Given the description of an element on the screen output the (x, y) to click on. 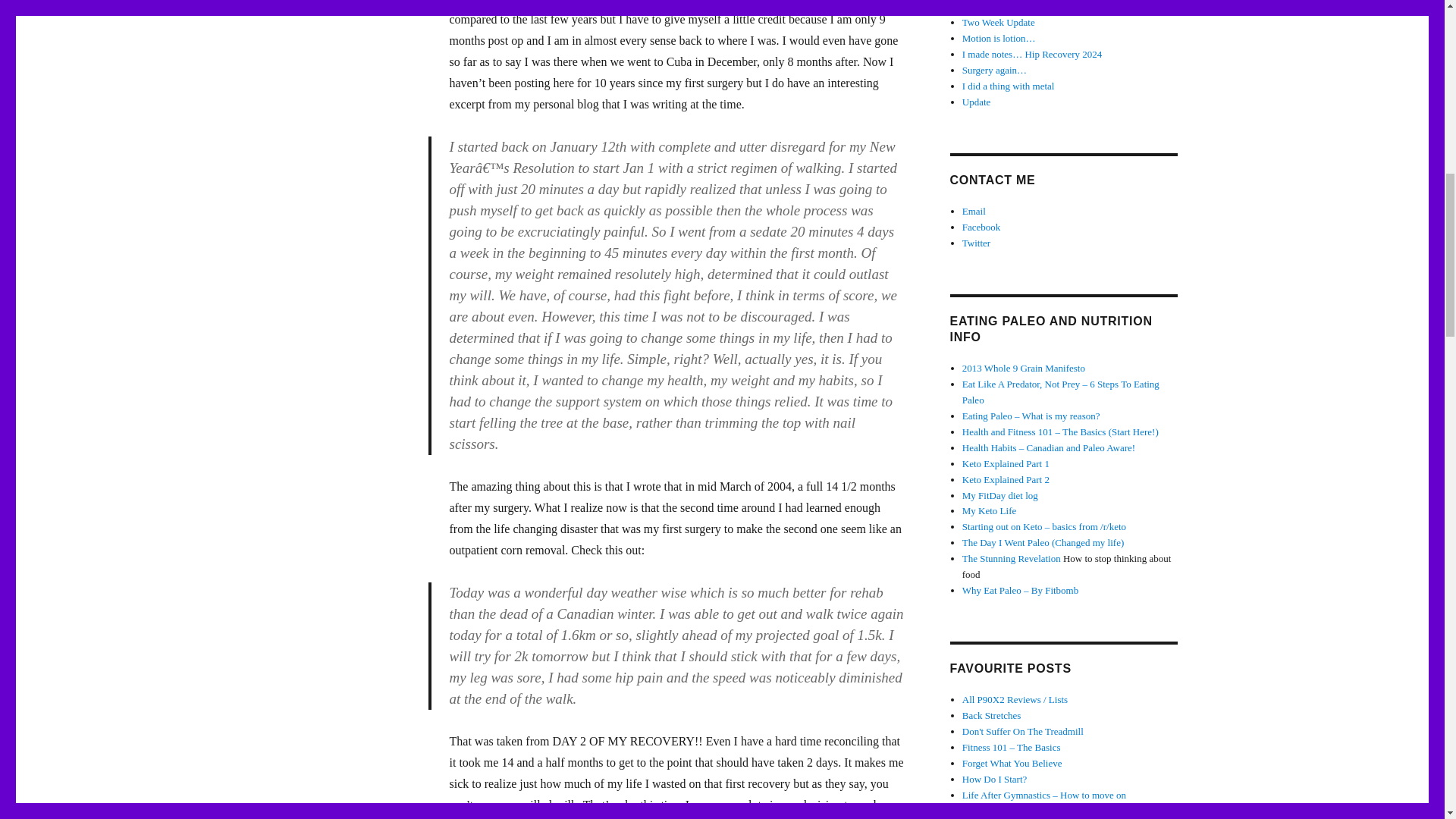
Twitter (976, 242)
My Keto Life (989, 510)
Forget What You Believe (1012, 763)
How to stop thinking about food (1011, 558)
Facebook (981, 226)
I did a thing with metal (1008, 85)
Don't Suffer On The Treadmill (1022, 731)
Two Week Update (998, 21)
Email (973, 211)
Keto Explained Part 1 (1005, 463)
